Given the description of an element on the screen output the (x, y) to click on. 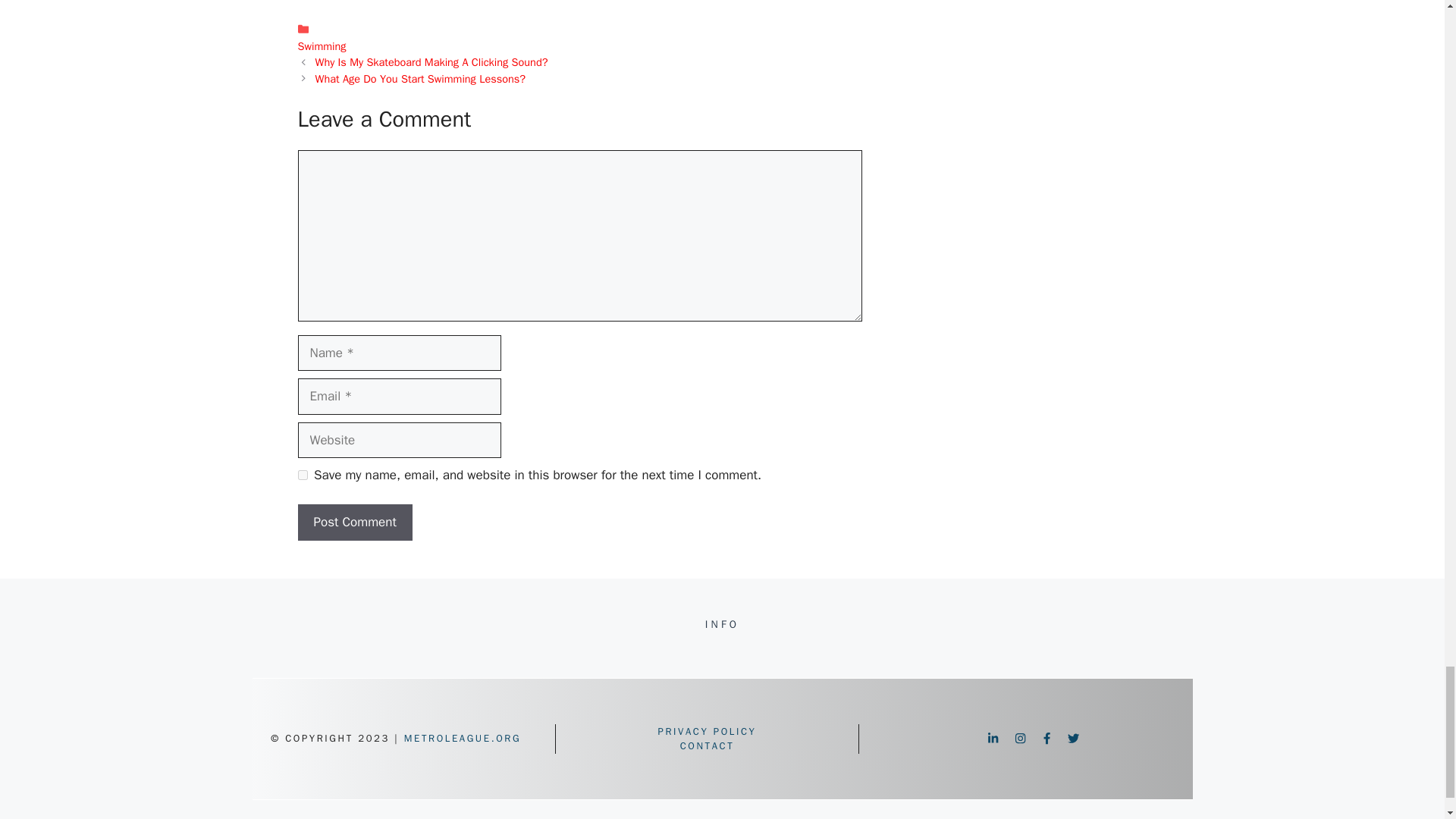
yes (302, 474)
Categories (579, 37)
Post Comment (354, 522)
Swimming (321, 46)
Why Is My Skateboard Making A Clicking Sound? (431, 61)
Post Comment (354, 522)
What Age Do You Start Swimming Lessons? (420, 78)
